Given the description of an element on the screen output the (x, y) to click on. 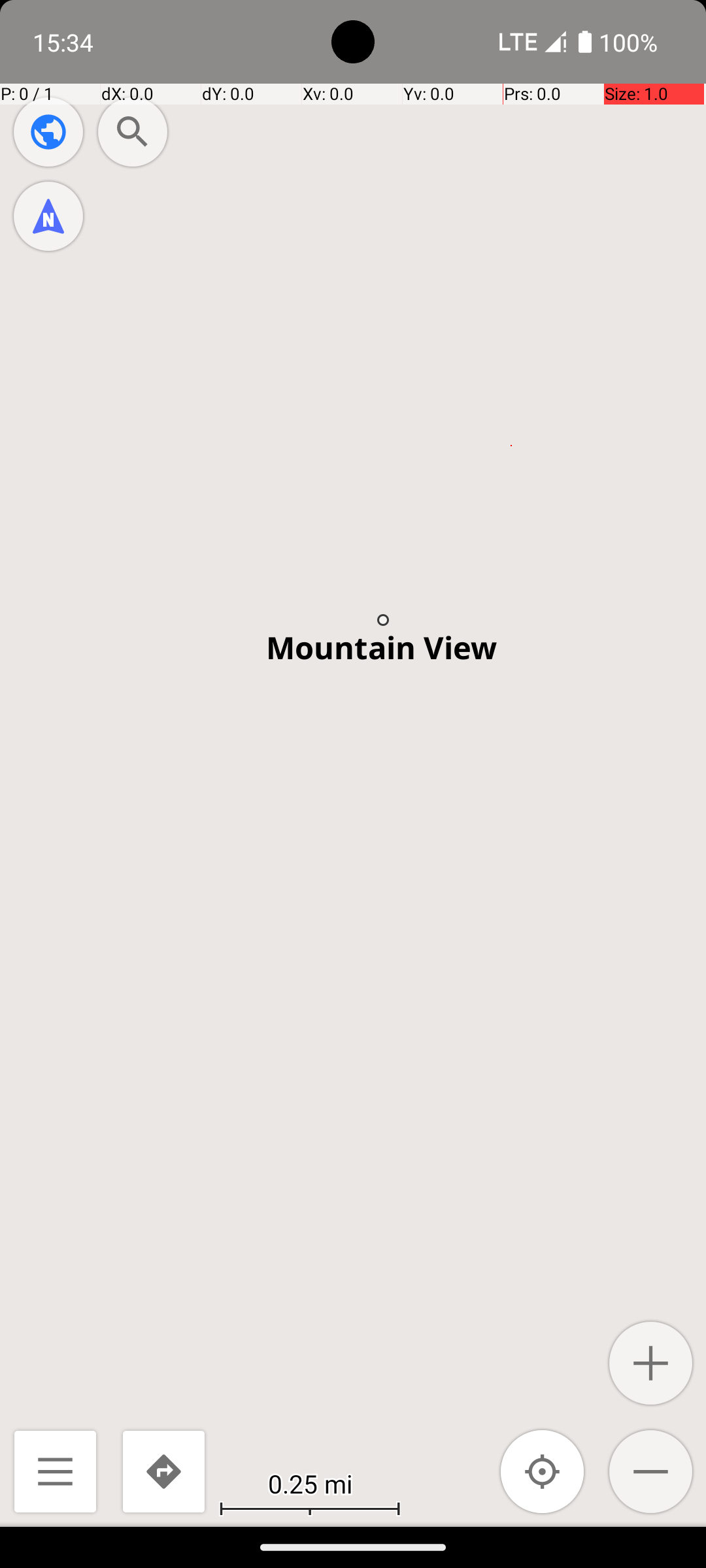
Movement direction Element type: android.widget.ImageButton (48, 216)
0.25 mi Element type: android.widget.TextView (309, 1483)
